Given the description of an element on the screen output the (x, y) to click on. 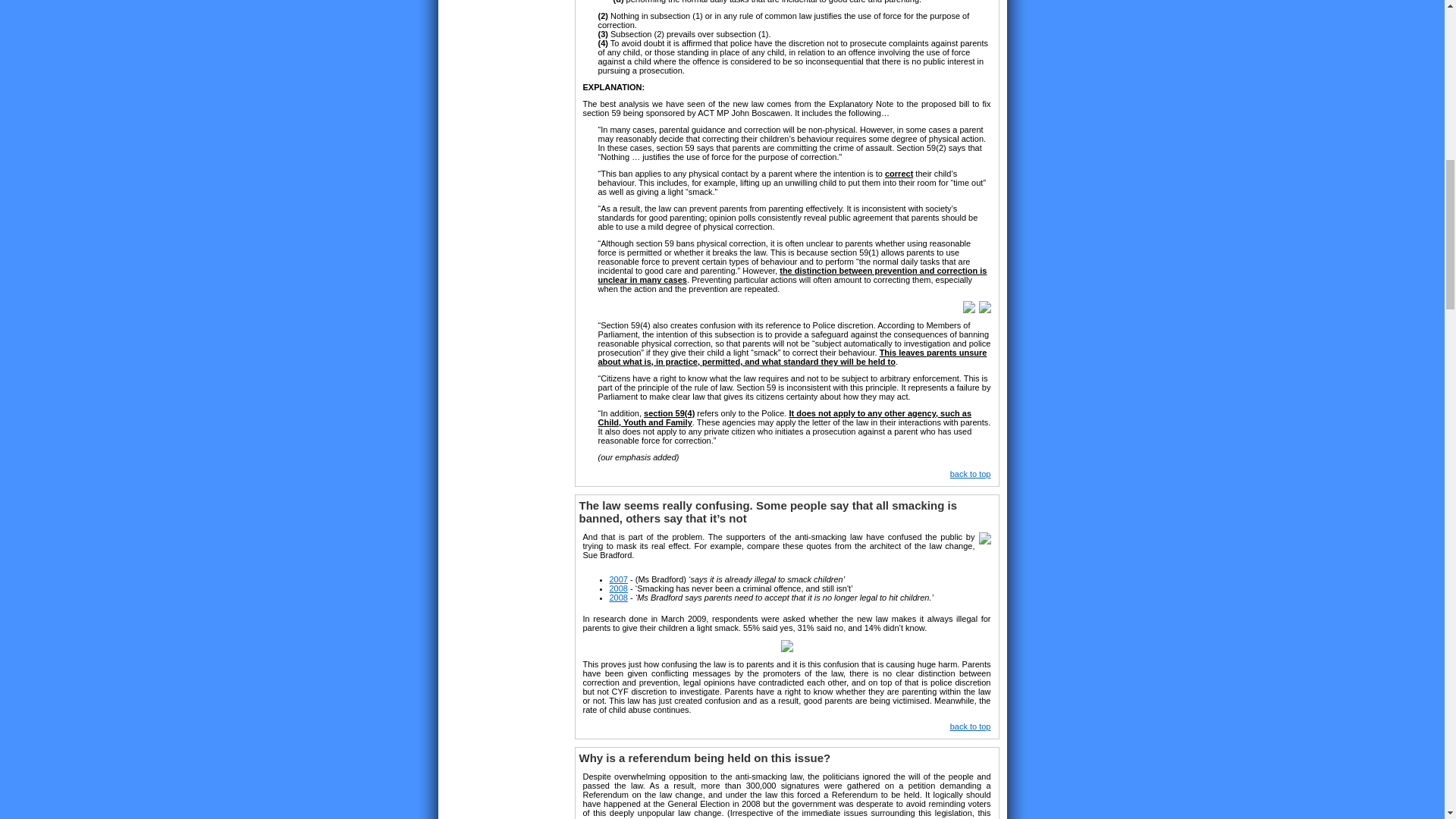
2008 (618, 596)
2008 (618, 587)
back to top (970, 473)
2007 (618, 578)
